Given the description of an element on the screen output the (x, y) to click on. 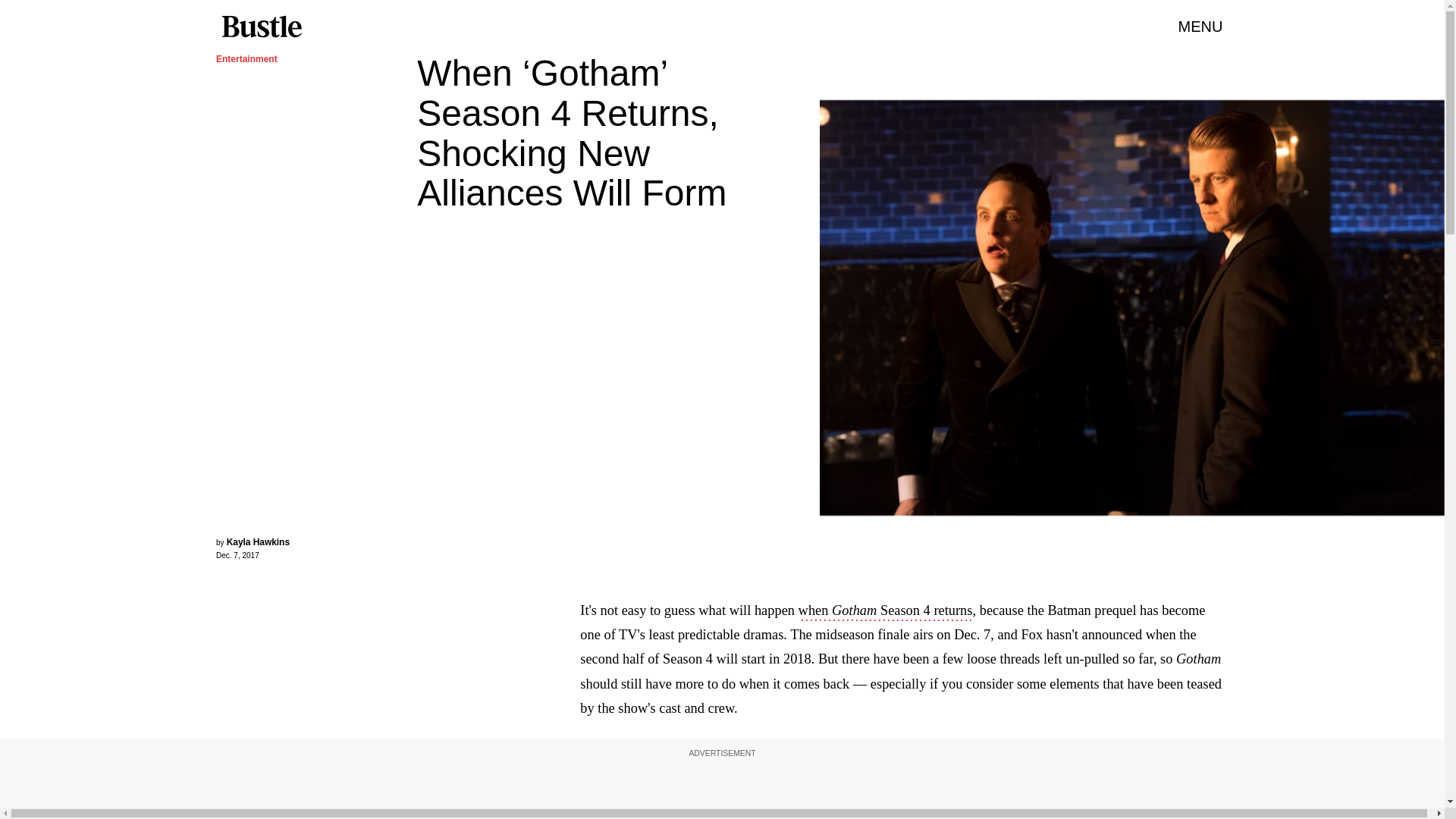
Bustle (261, 26)
when Gotham Season 4 returns (884, 611)
